Given the description of an element on the screen output the (x, y) to click on. 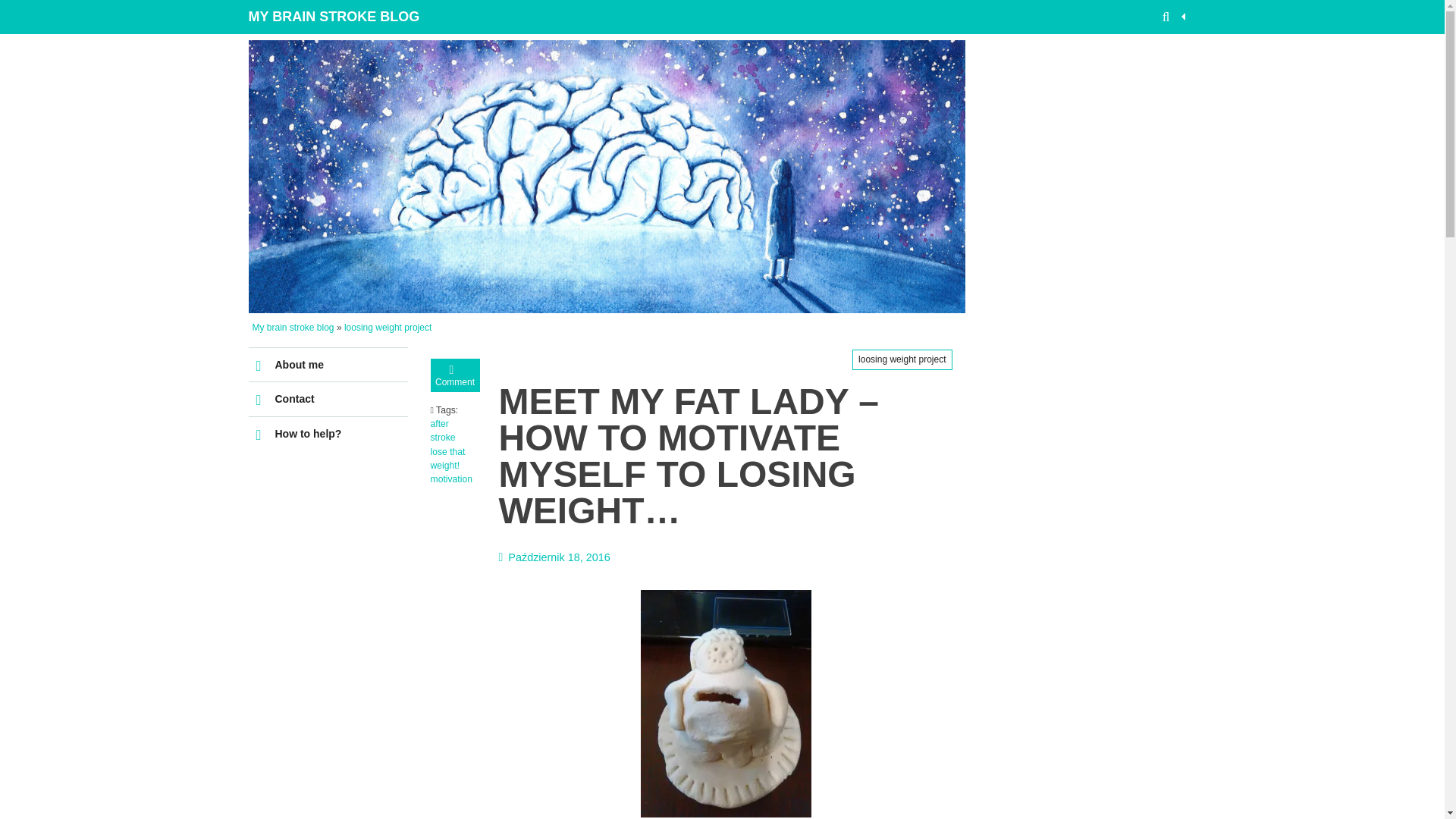
My brain stroke blog (292, 327)
About me (327, 365)
motivation (450, 479)
7:55 am (554, 556)
MY BRAIN STROKE BLOG (335, 17)
Contact (327, 399)
Comment (455, 375)
loosing weight project (386, 327)
Skip to content (288, 354)
How to help? (327, 433)
